Given the description of an element on the screen output the (x, y) to click on. 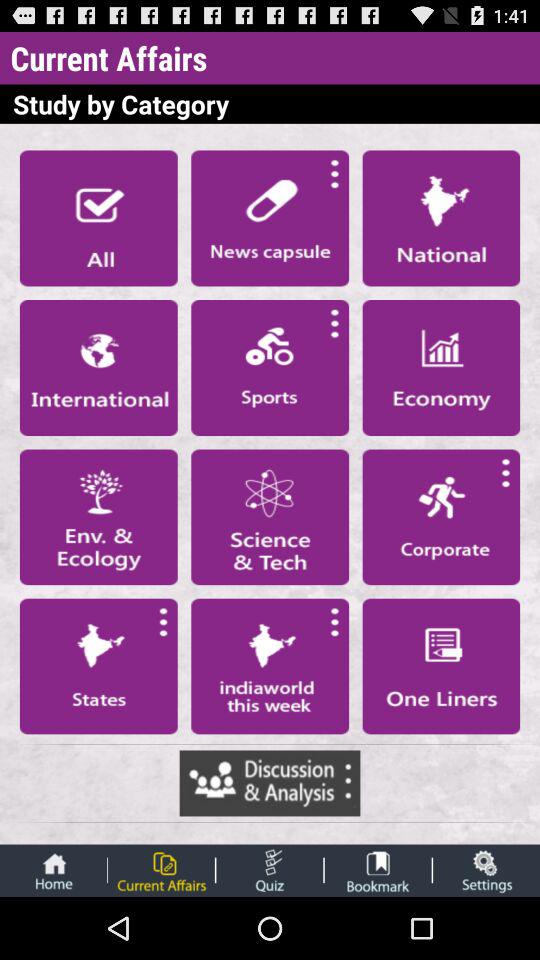
view one line current affairs (441, 666)
